Given the description of an element on the screen output the (x, y) to click on. 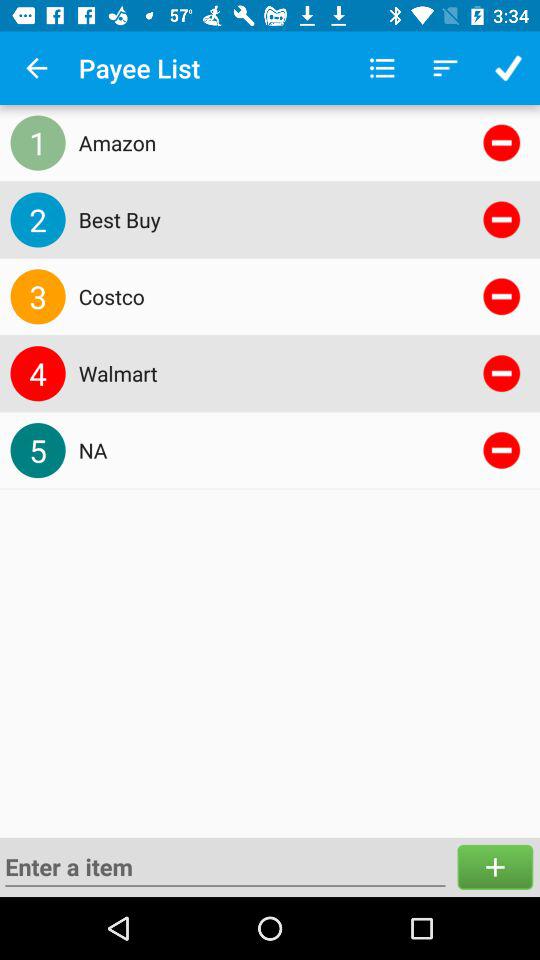
select the item next to the payee list (36, 68)
